Given the description of an element on the screen output the (x, y) to click on. 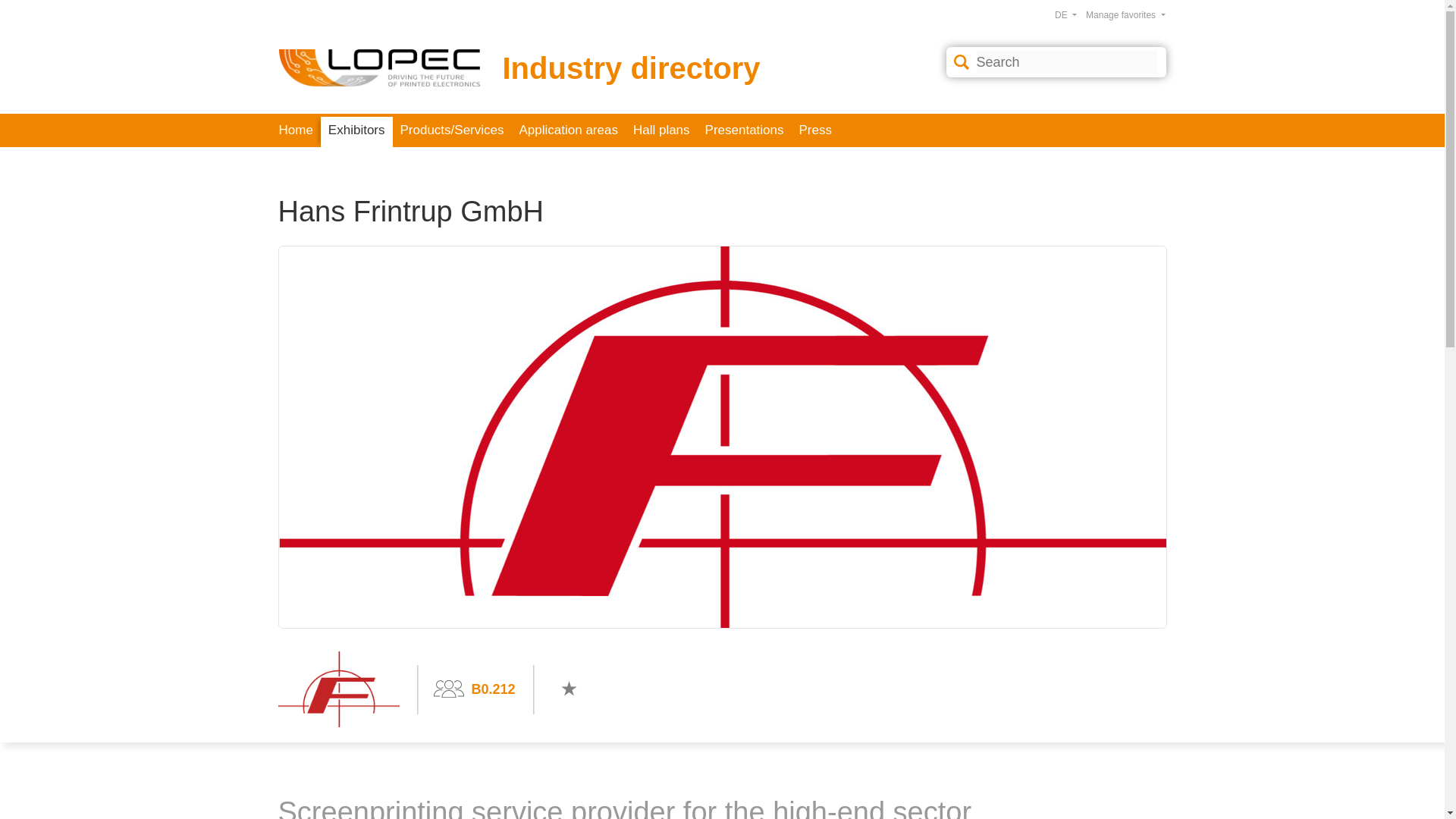
DE (1065, 14)
Presentations (744, 130)
Home (295, 130)
Application areas (567, 130)
Home (295, 130)
Manage favorites (1125, 14)
B0.212 (493, 688)
Exhibitors (356, 132)
Hall plans (661, 130)
Press (816, 130)
